Given the description of an element on the screen output the (x, y) to click on. 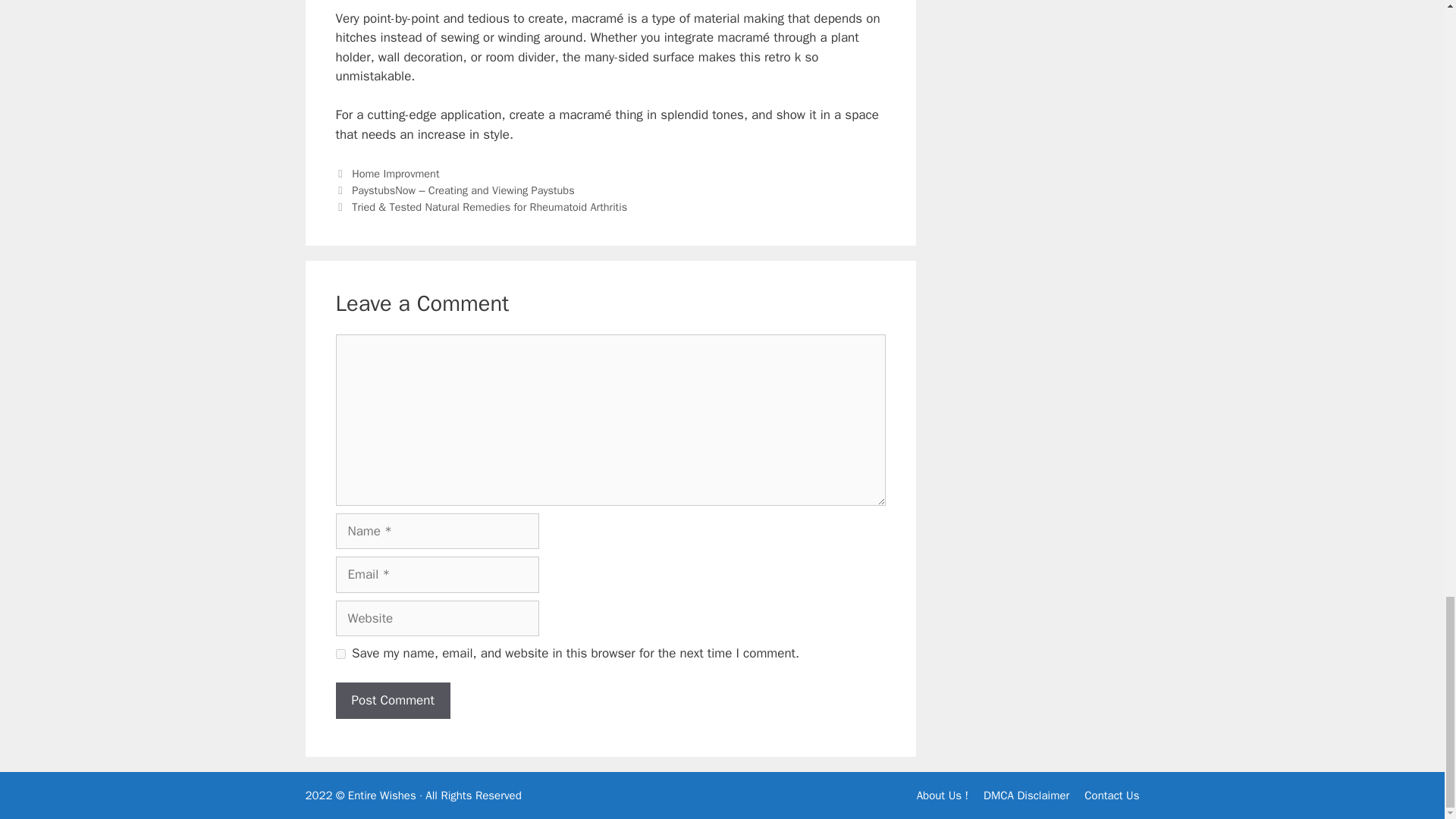
DMCA Disclaimer (1026, 795)
About Us ! (942, 795)
Contact Us (1111, 795)
yes (339, 654)
Post Comment (391, 700)
Post Comment (391, 700)
Home Improvment (395, 173)
